Given the description of an element on the screen output the (x, y) to click on. 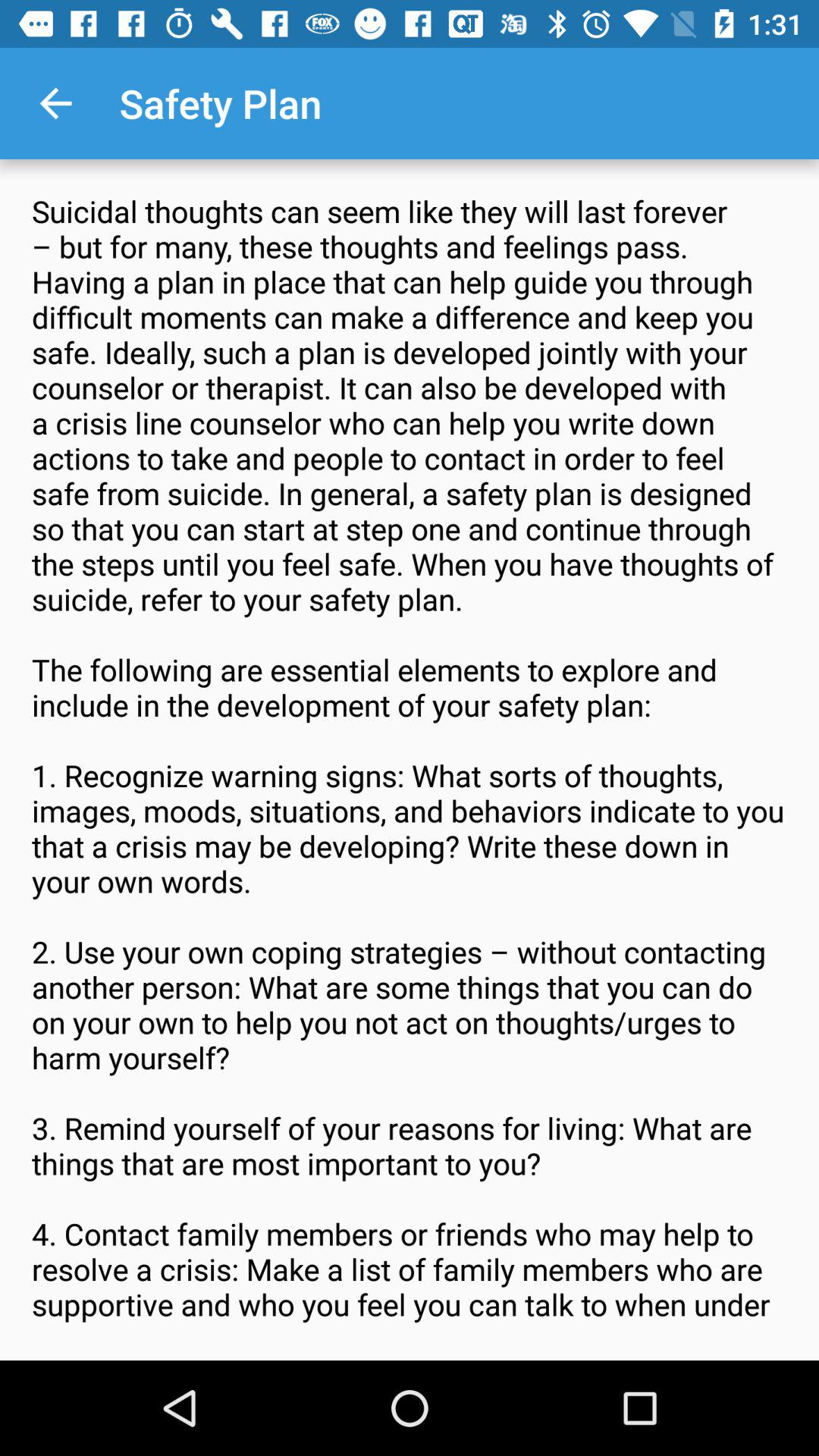
select icon to the left of the safety plan icon (55, 103)
